Given the description of an element on the screen output the (x, y) to click on. 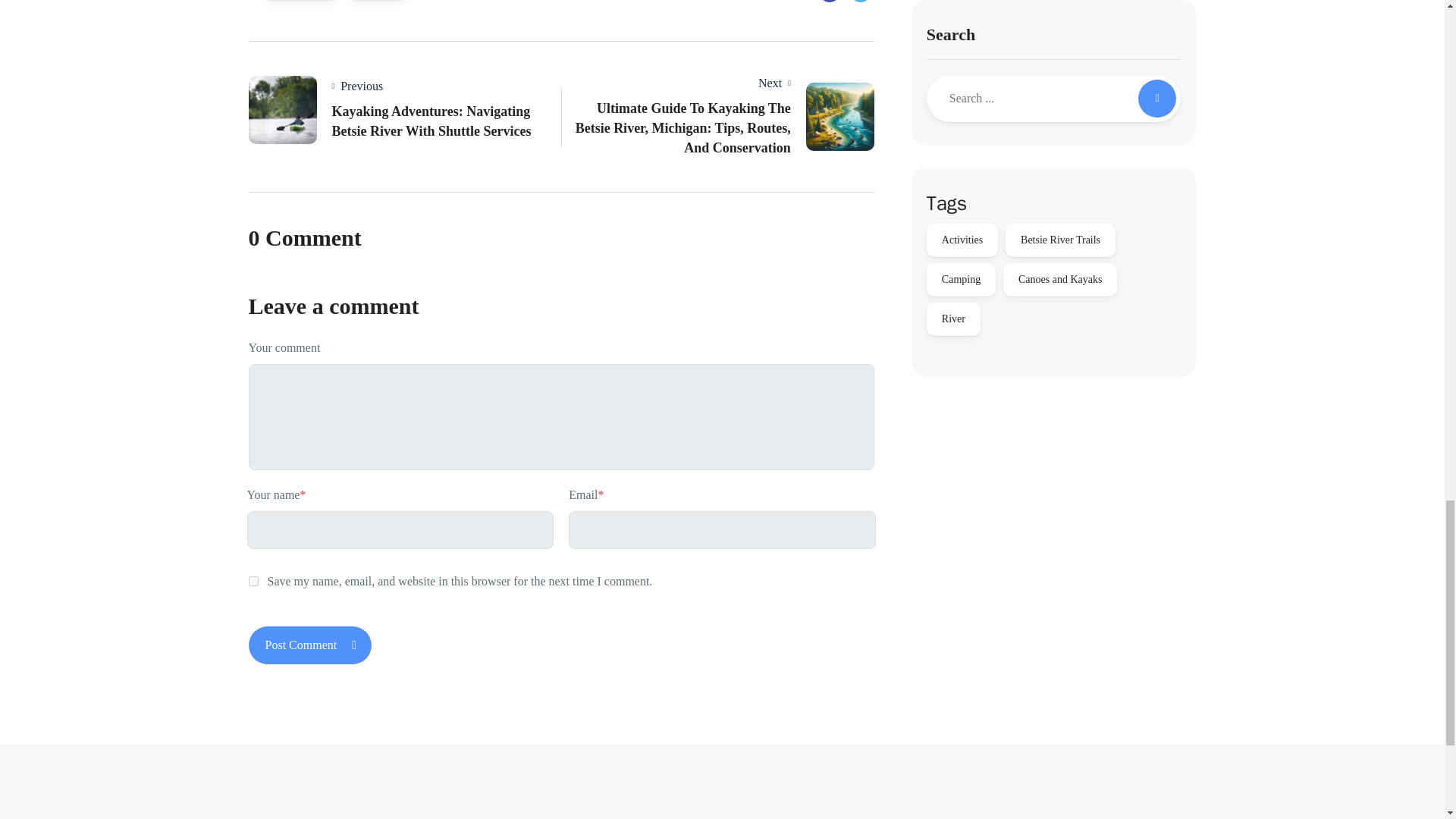
Post Comment (310, 645)
Post Comment (310, 645)
yes (253, 581)
